Given the description of an element on the screen output the (x, y) to click on. 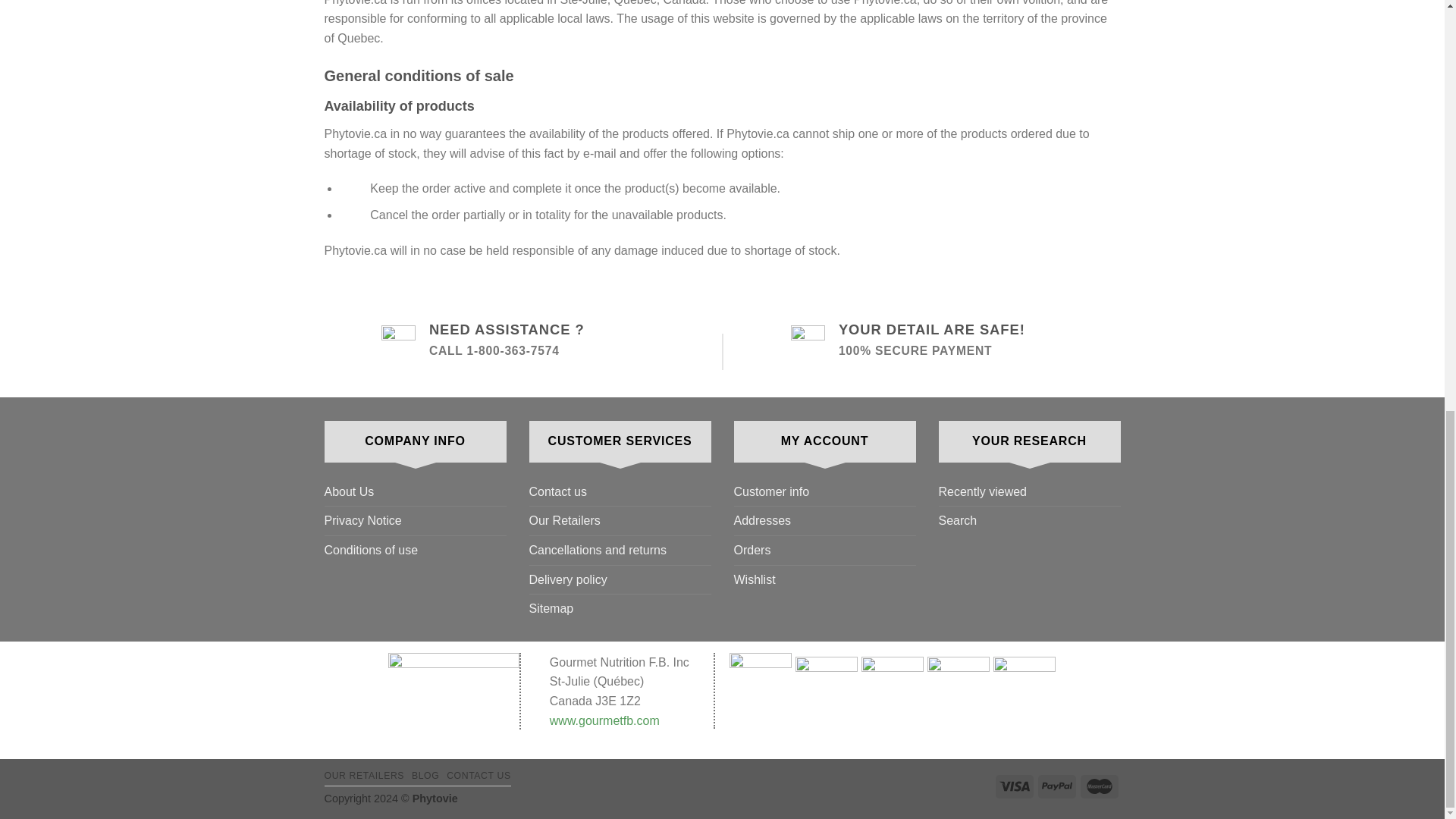
About Us (349, 491)
Conditions of use (371, 550)
Privacy Notice (362, 520)
